Given the description of an element on the screen output the (x, y) to click on. 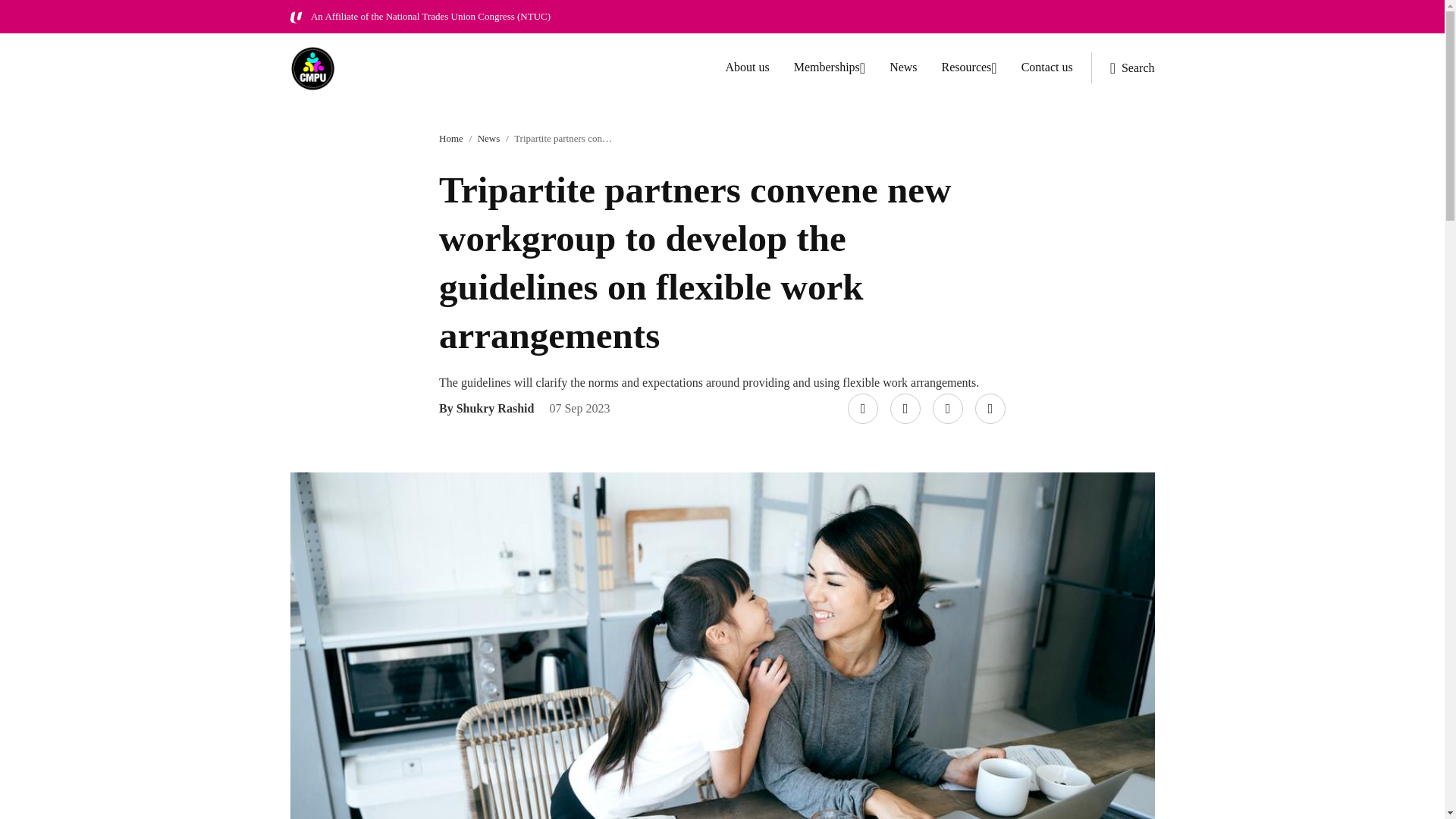
News (903, 67)
Contact us (1047, 67)
Memberships (828, 68)
Home (451, 138)
Resources (969, 68)
Twitter (902, 394)
About us (746, 67)
Search (1122, 67)
News (488, 138)
